Given the description of an element on the screen output the (x, y) to click on. 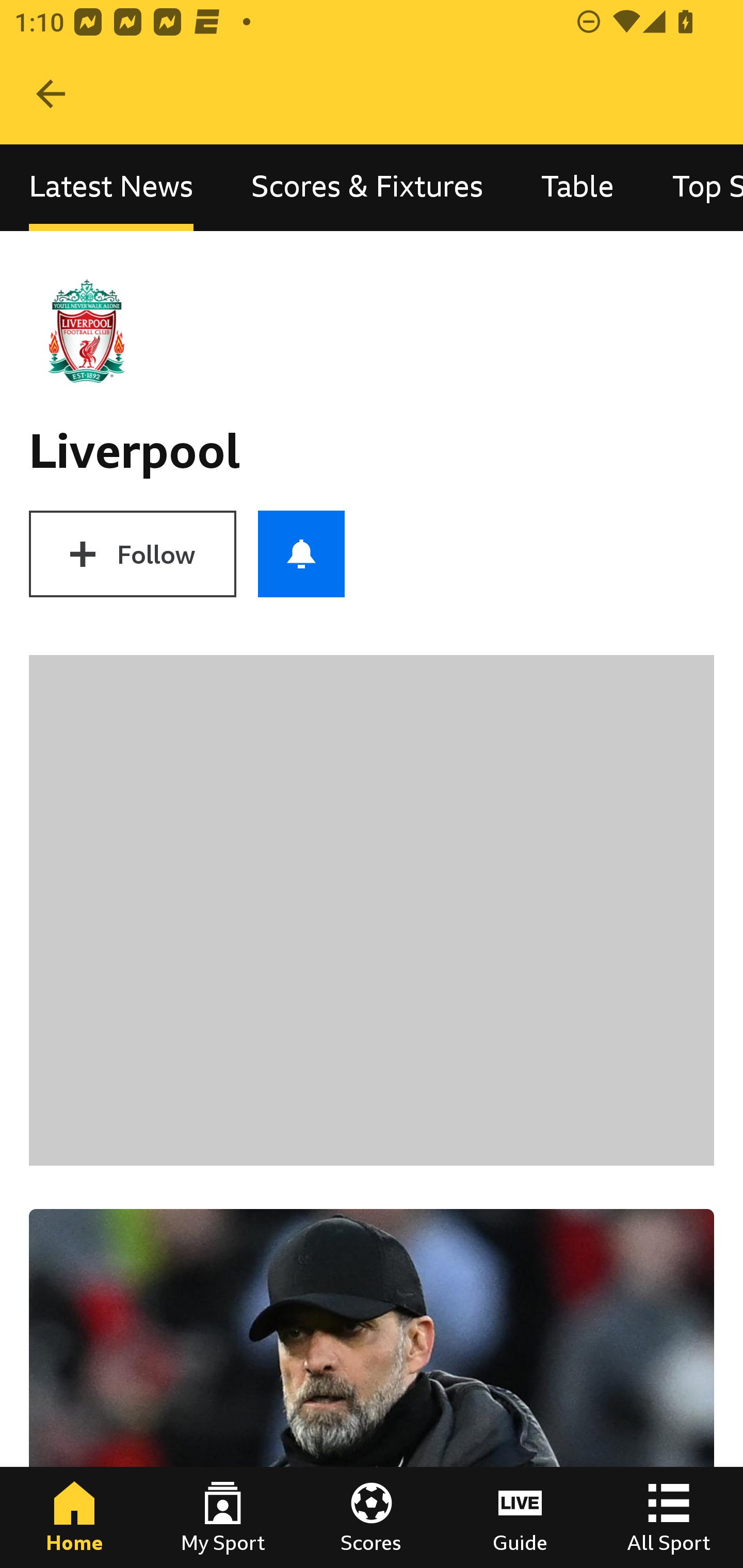
Navigate up (50, 93)
Latest News, selected Latest News (111, 187)
Scores & Fixtures (367, 187)
Table (577, 187)
Top Scorers (693, 187)
Follow Liverpool Follow (132, 554)
Push notifications for Liverpool (300, 554)
My Sport (222, 1517)
Scores (371, 1517)
Guide (519, 1517)
All Sport (668, 1517)
